Given the description of an element on the screen output the (x, y) to click on. 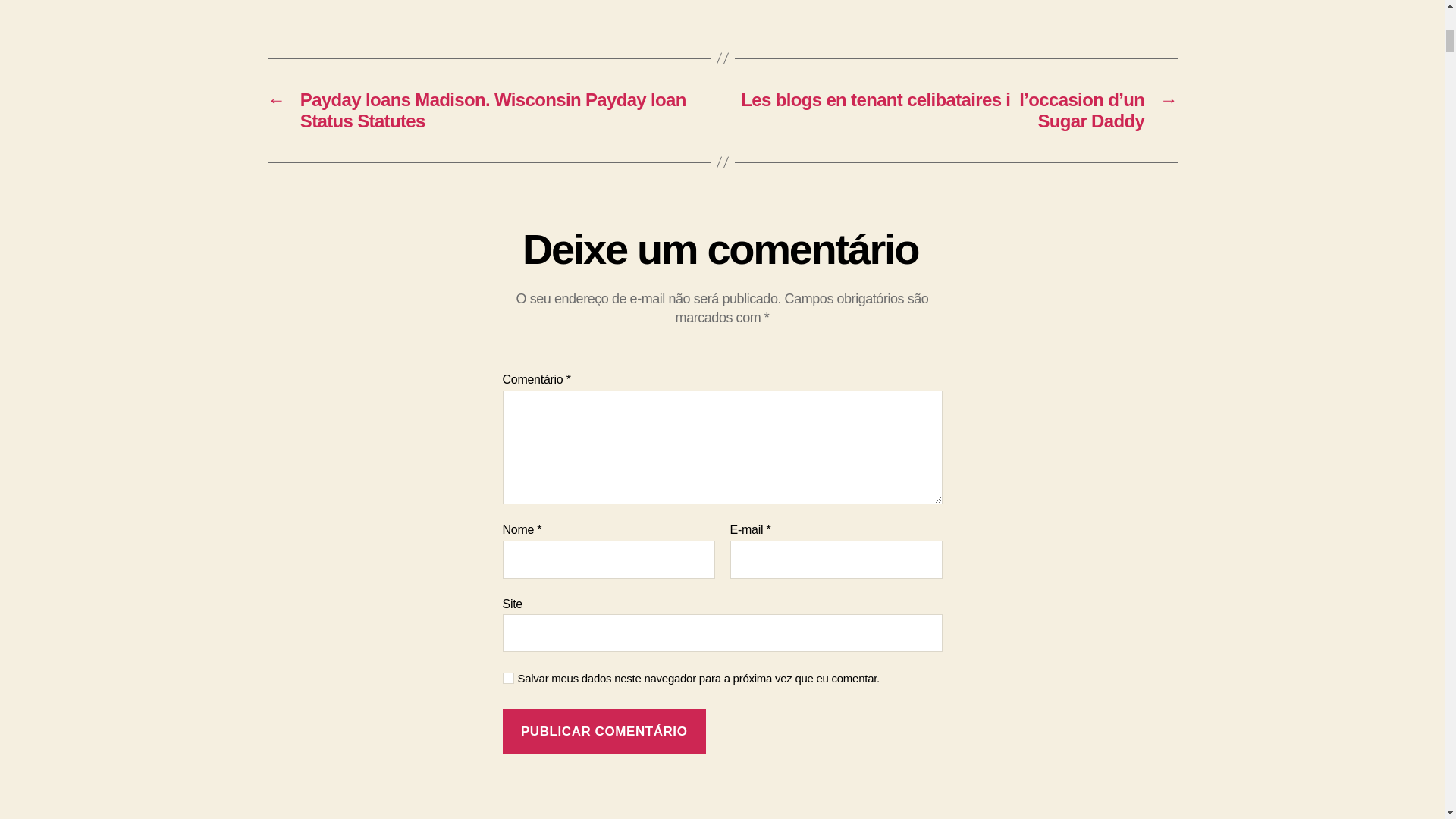
yes (507, 677)
